Given the description of an element on the screen output the (x, y) to click on. 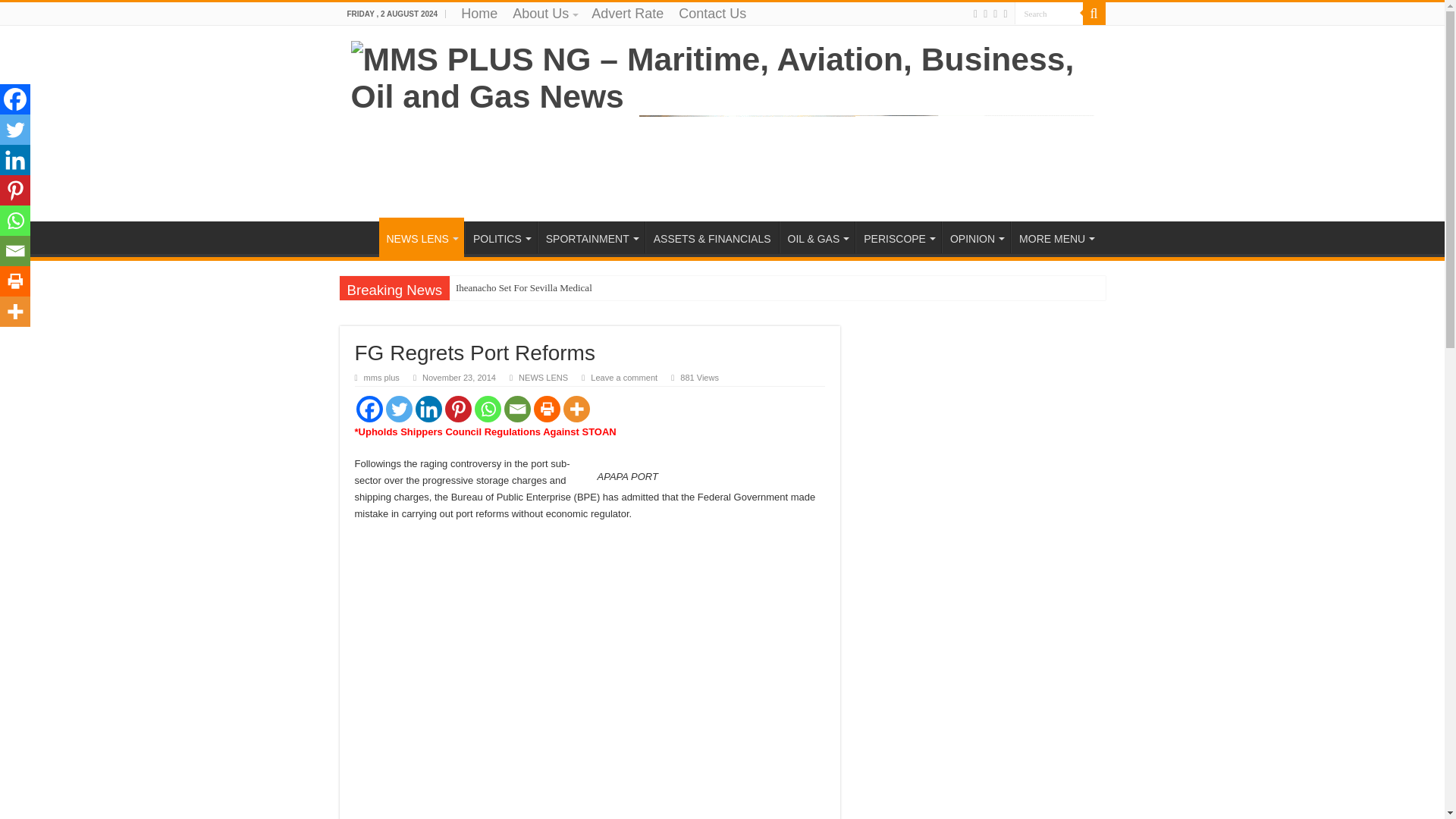
Advert Rate (627, 13)
Home (478, 13)
Search (1048, 13)
Search (1094, 13)
POLITICS (500, 237)
Search (1048, 13)
Search (1048, 13)
NEWS LENS (421, 237)
HOME (358, 237)
Contact Us (712, 13)
About Us (544, 13)
SPORTAINMENT (591, 237)
HOME (358, 237)
